Given the description of an element on the screen output the (x, y) to click on. 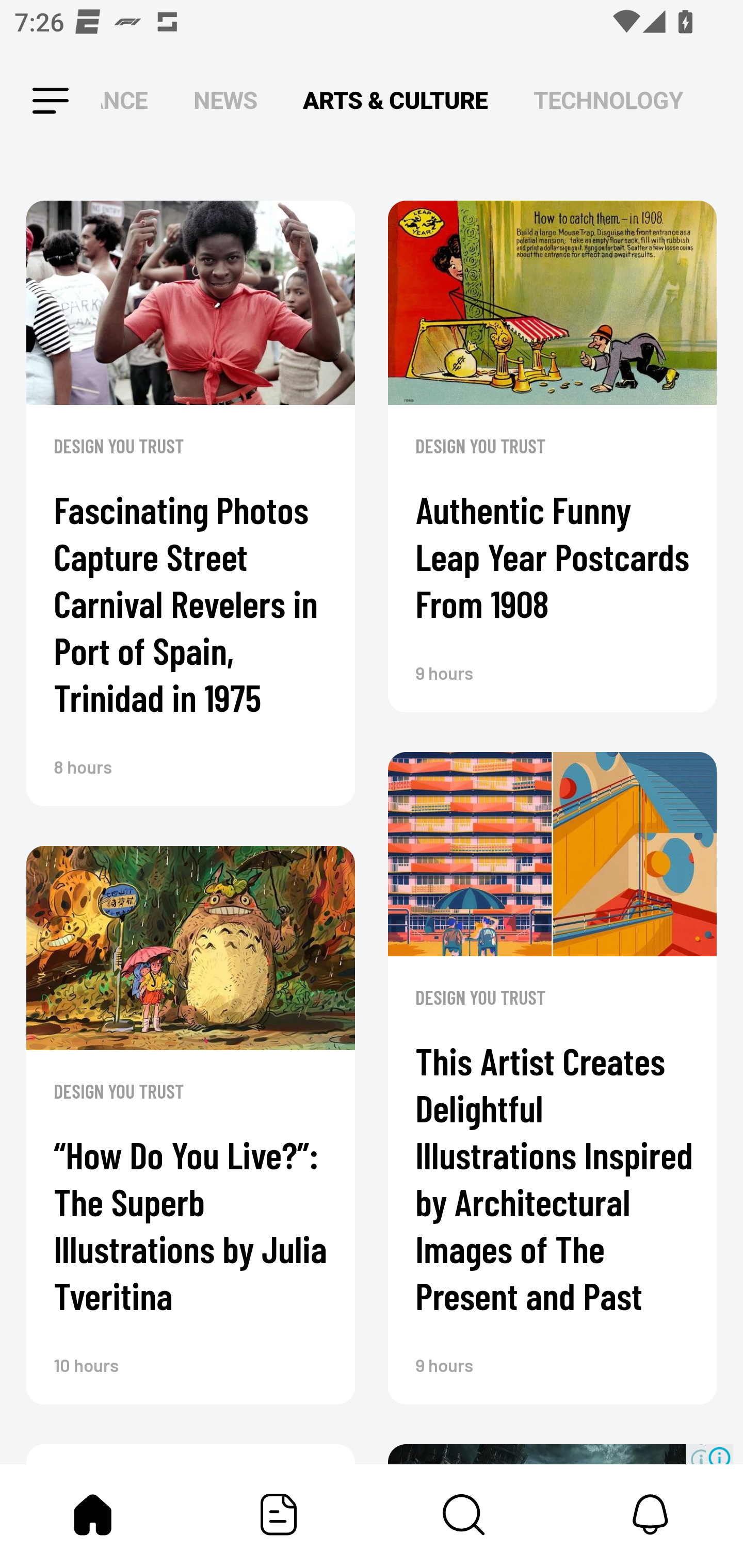
BUSINESS & FINANCE (124, 100)
NEWS (225, 100)
TECHNOLOGY (607, 100)
Featured (278, 1514)
Content Store (464, 1514)
Notifications (650, 1514)
